Given the description of an element on the screen output the (x, y) to click on. 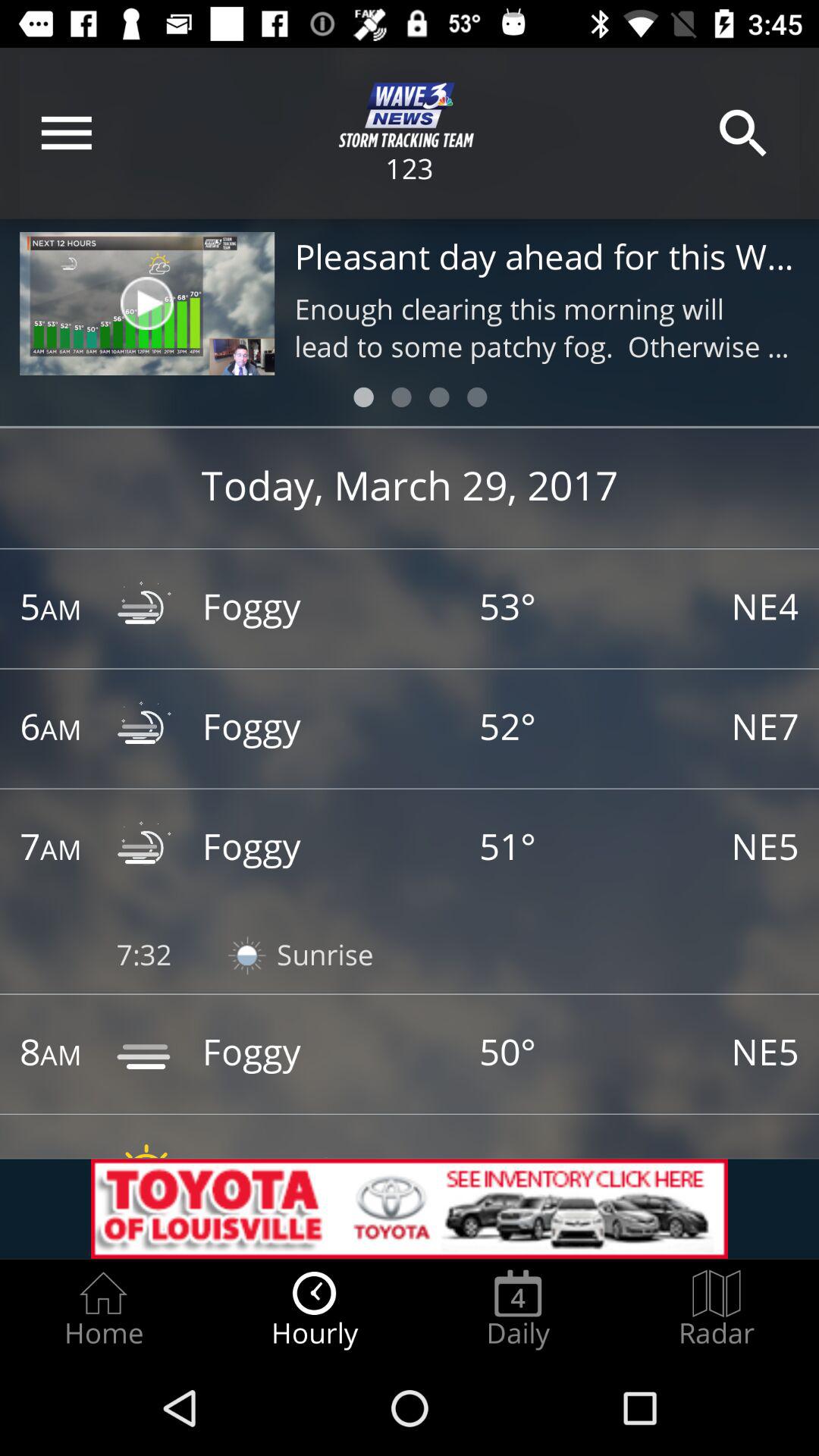
press icon to the right of daily icon (716, 1309)
